Given the description of an element on the screen output the (x, y) to click on. 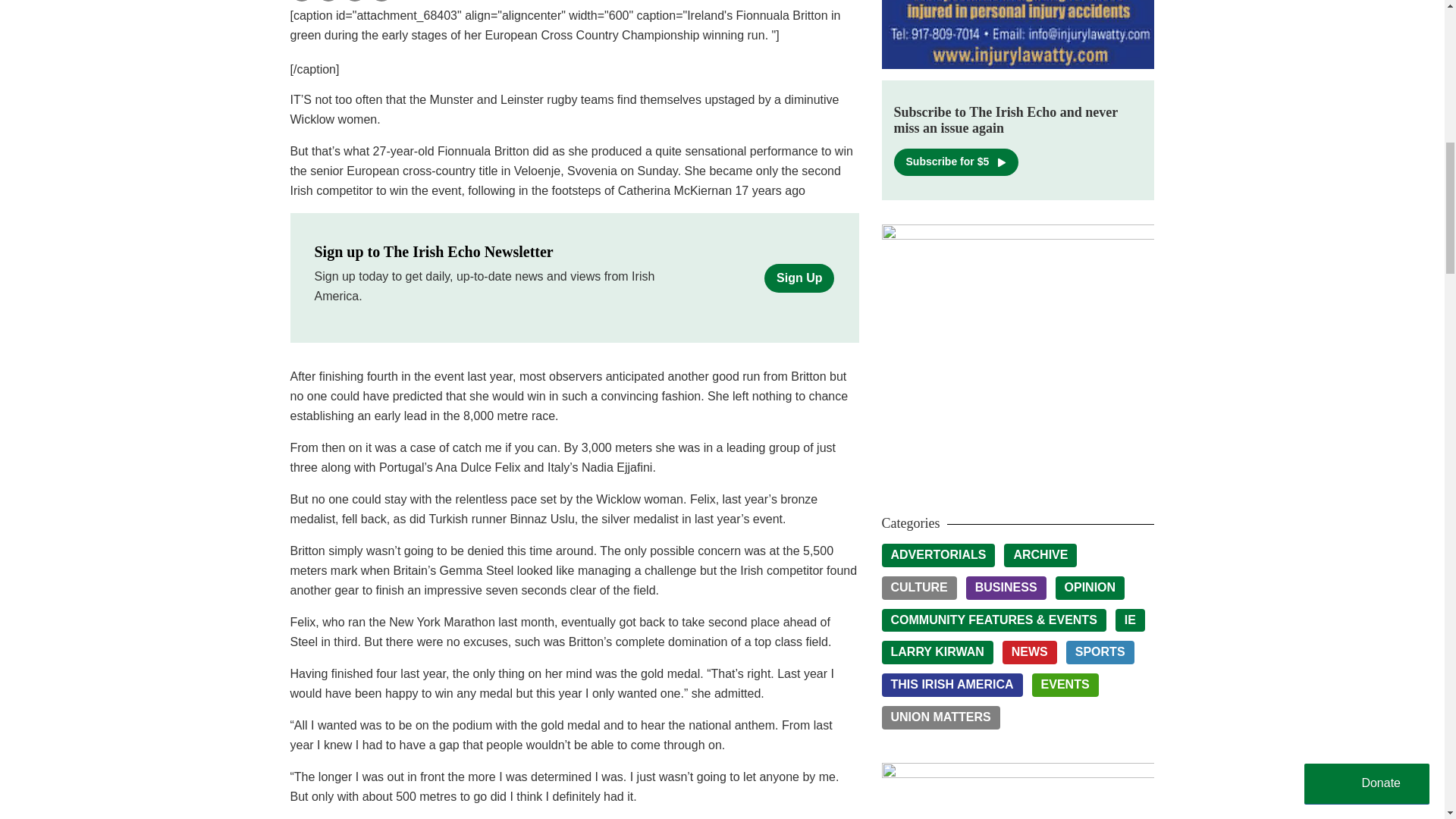
cronin Tours  (1017, 790)
